Given the description of an element on the screen output the (x, y) to click on. 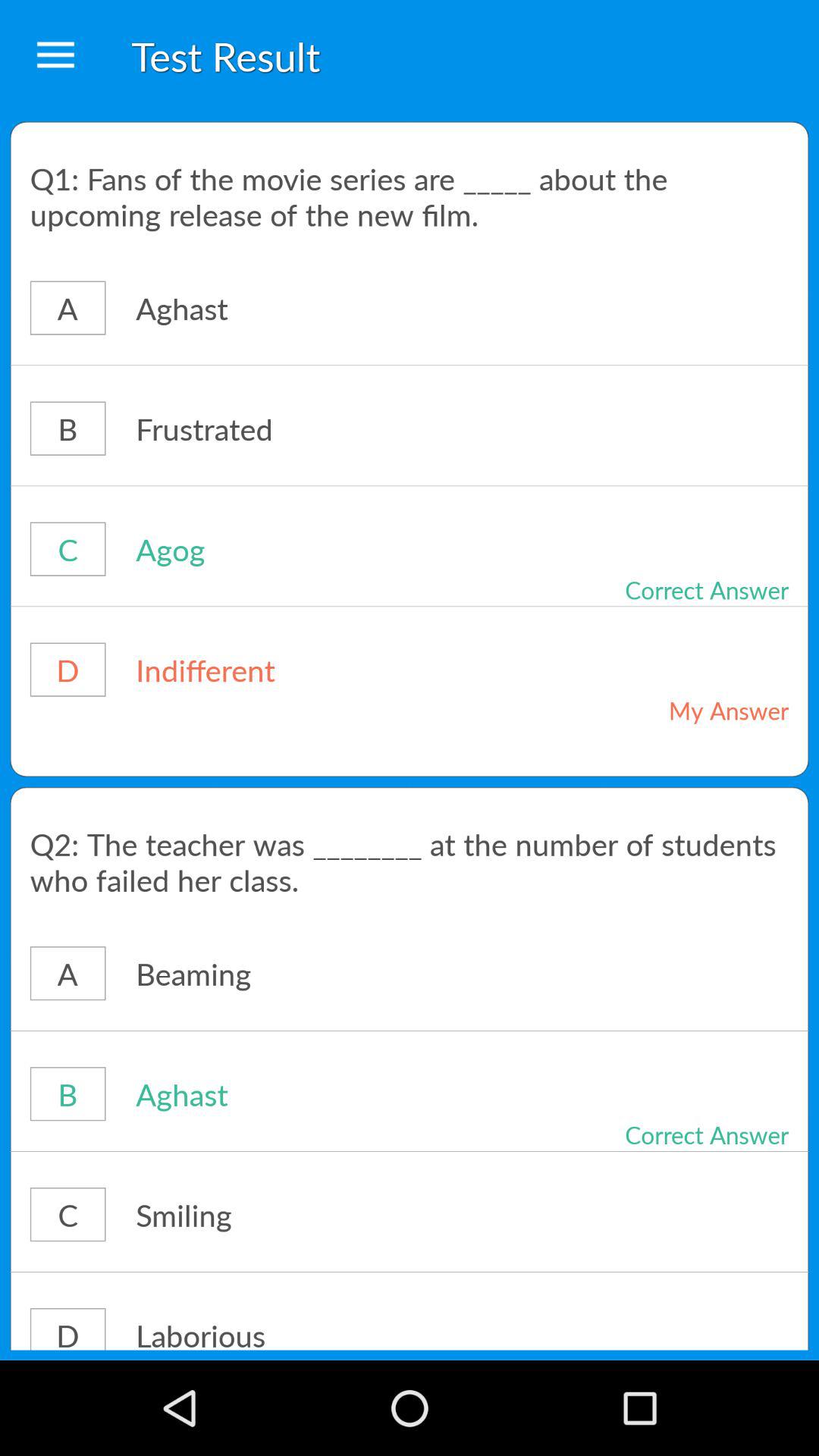
press the icon next to the test result icon (55, 55)
